Given the description of an element on the screen output the (x, y) to click on. 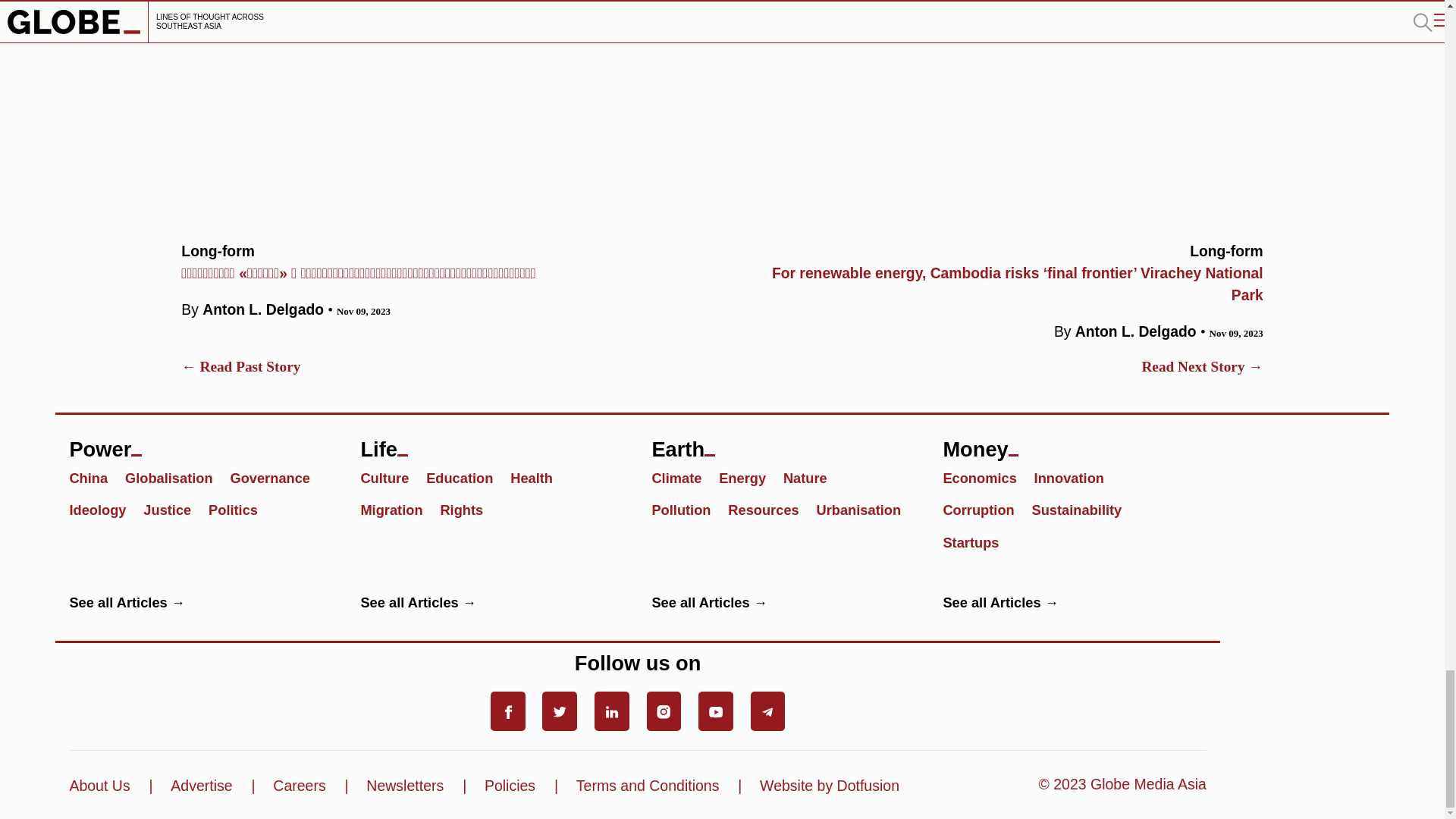
Politics (239, 508)
Ideology (103, 508)
China (94, 477)
Justice (173, 508)
Globalisation (176, 477)
Power (199, 442)
Governance (276, 477)
